Given the description of an element on the screen output the (x, y) to click on. 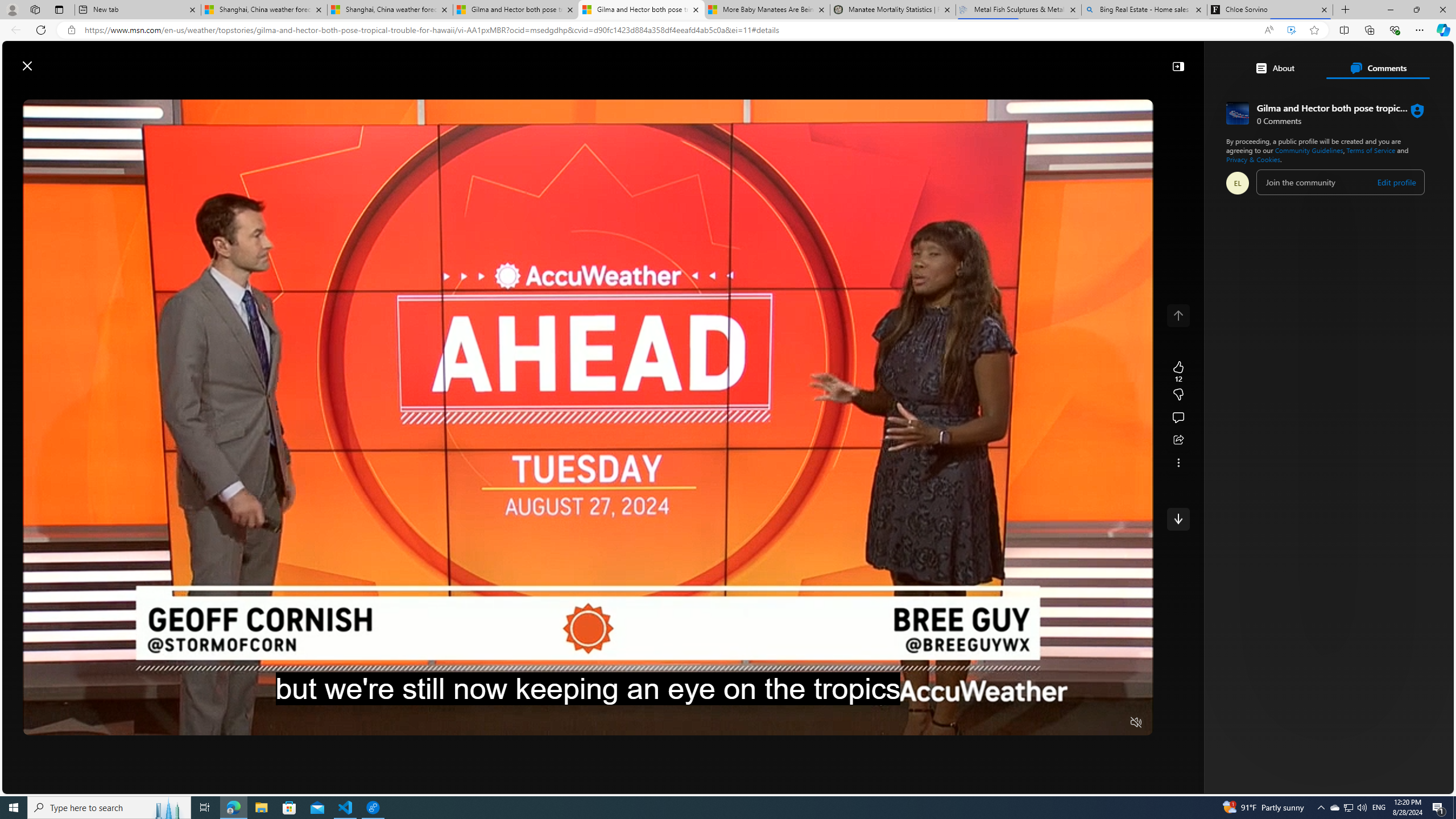
Enhance video (1291, 29)
More like this12Fewer like thisStart the conversation (1178, 394)
